Given the description of an element on the screen output the (x, y) to click on. 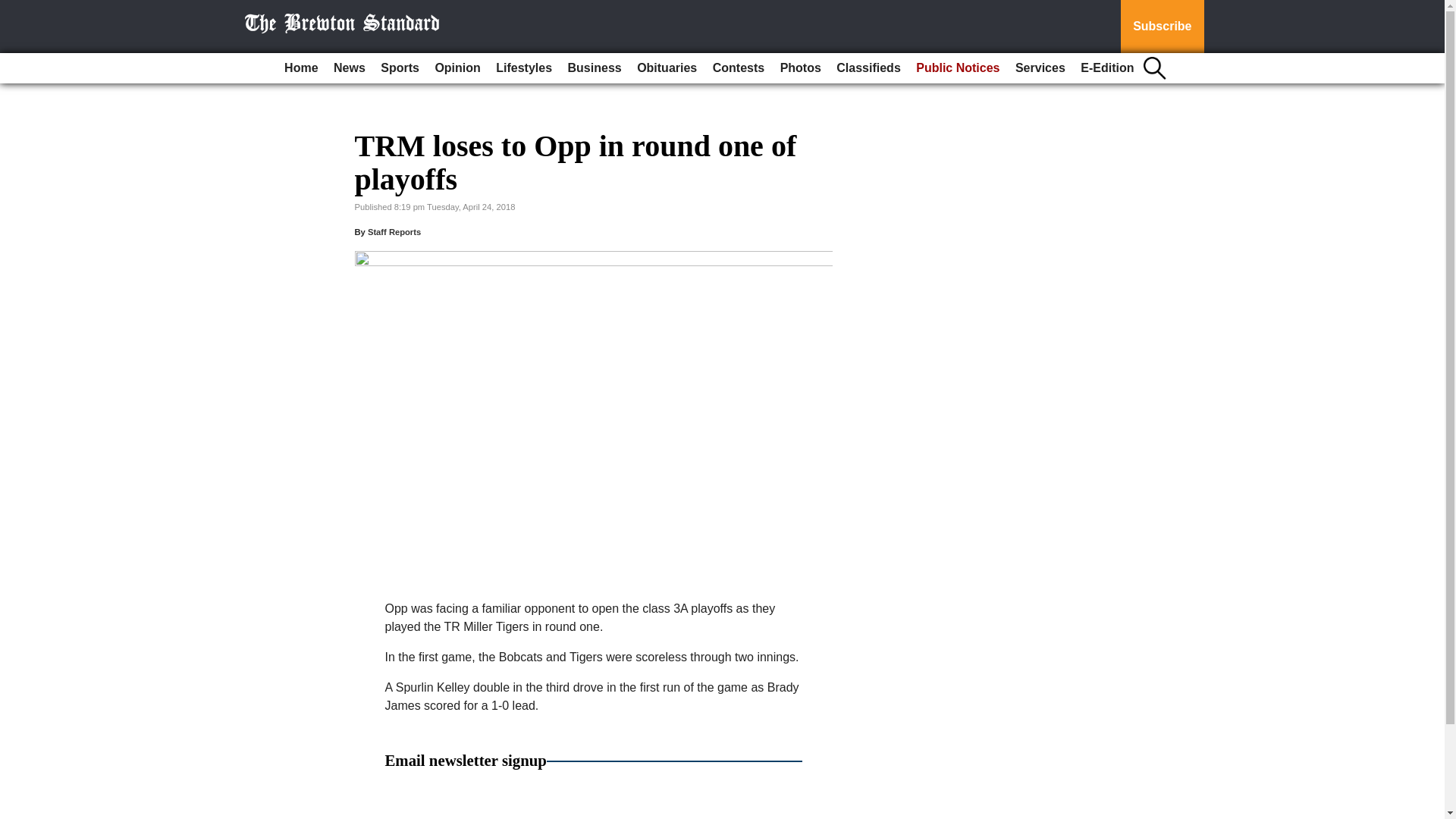
News (349, 68)
Classifieds (867, 68)
Photos (800, 68)
Subscribe (1162, 26)
Go (13, 9)
Lifestyles (523, 68)
Obituaries (666, 68)
Staff Reports (394, 231)
Opinion (457, 68)
Business (594, 68)
E-Edition (1107, 68)
Services (1040, 68)
Public Notices (958, 68)
Home (300, 68)
Contests (738, 68)
